Given the description of an element on the screen output the (x, y) to click on. 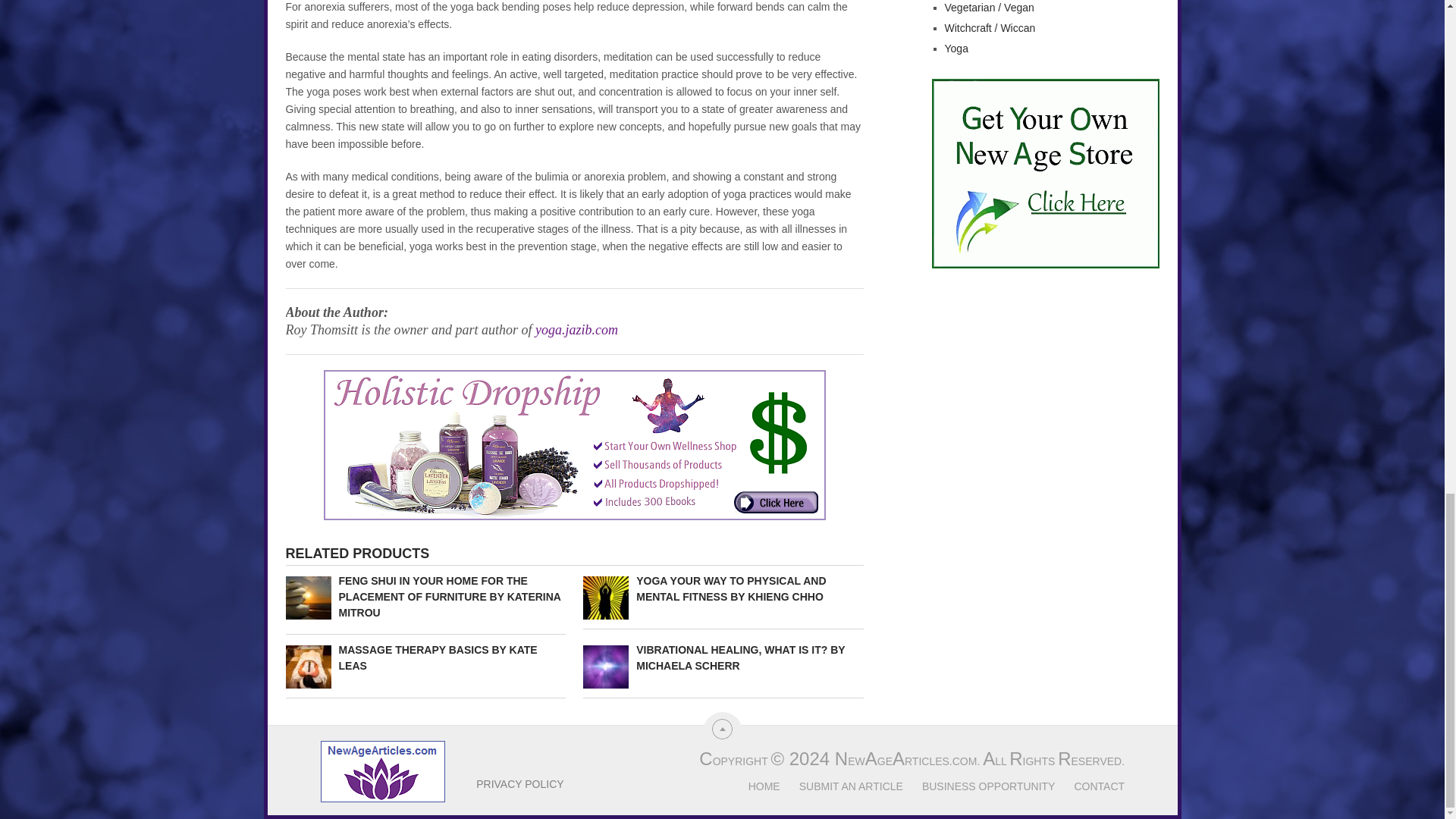
YOGA YOUR WAY TO PHYSICAL AND MENTAL FITNESS BY KHIENG CHHO (723, 589)
yoga.jazib.com (576, 329)
MASSAGE THERAPY BASICS BY KATE LEAS (425, 658)
Yoga Your Way To Physical and Mental Fitness by Khieng Chho (723, 589)
Massage Therapy Basics by Kate Leas (425, 658)
Vibrational Healing, What Is It? by Michaela Scherr (723, 658)
VIBRATIONAL HEALING, WHAT IS IT? BY MICHAELA SCHERR (723, 658)
